Given the description of an element on the screen output the (x, y) to click on. 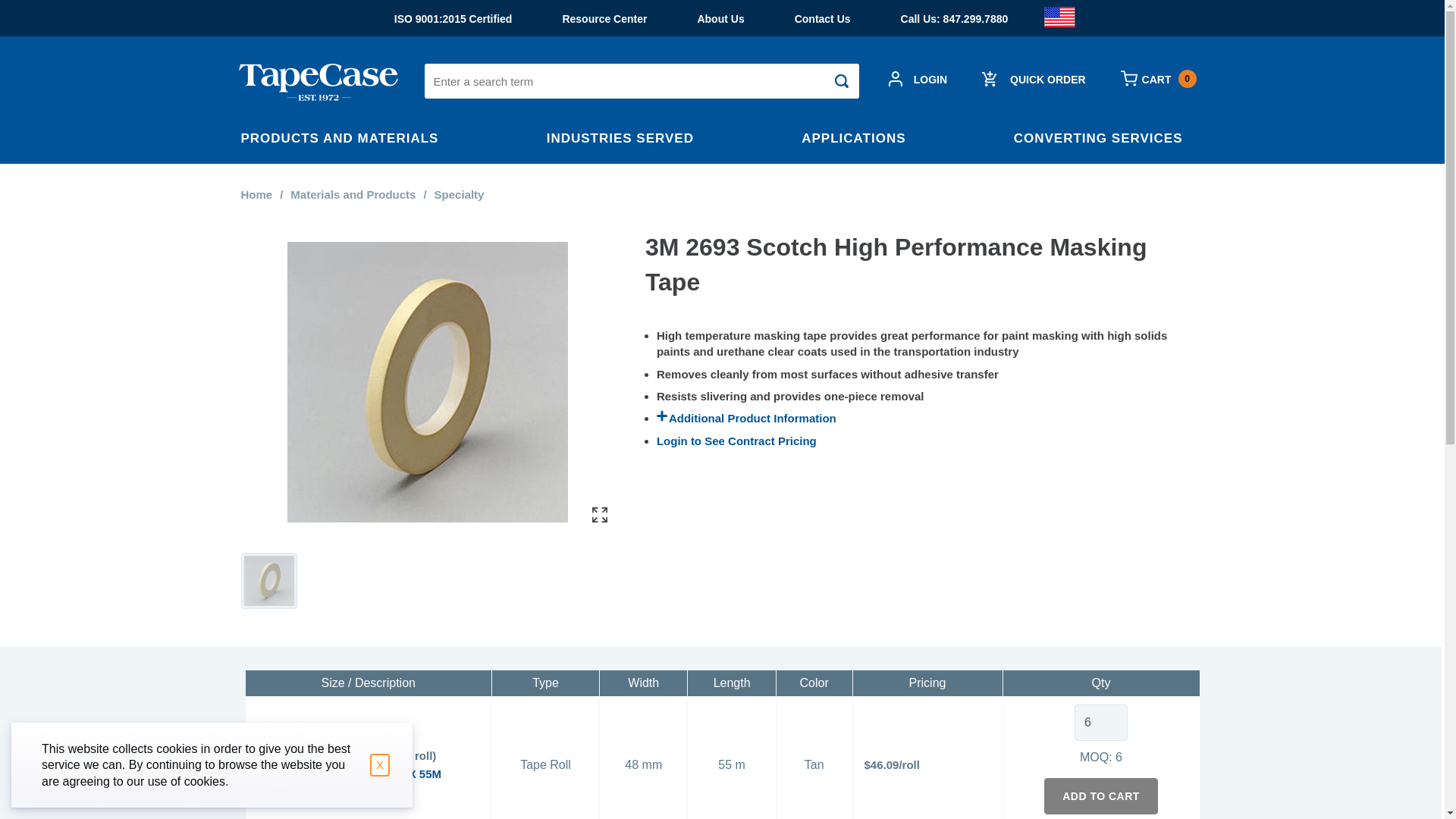
About Us (719, 18)
LOGIN (919, 79)
Search (841, 81)
Contact Us (823, 18)
QUICK ORDER (1035, 79)
PRODUCTS AND MATERIALS (1158, 79)
0 (350, 138)
Resource Center (269, 580)
ISO 9001:2015 Certified (954, 18)
6 (604, 18)
